Given the description of an element on the screen output the (x, y) to click on. 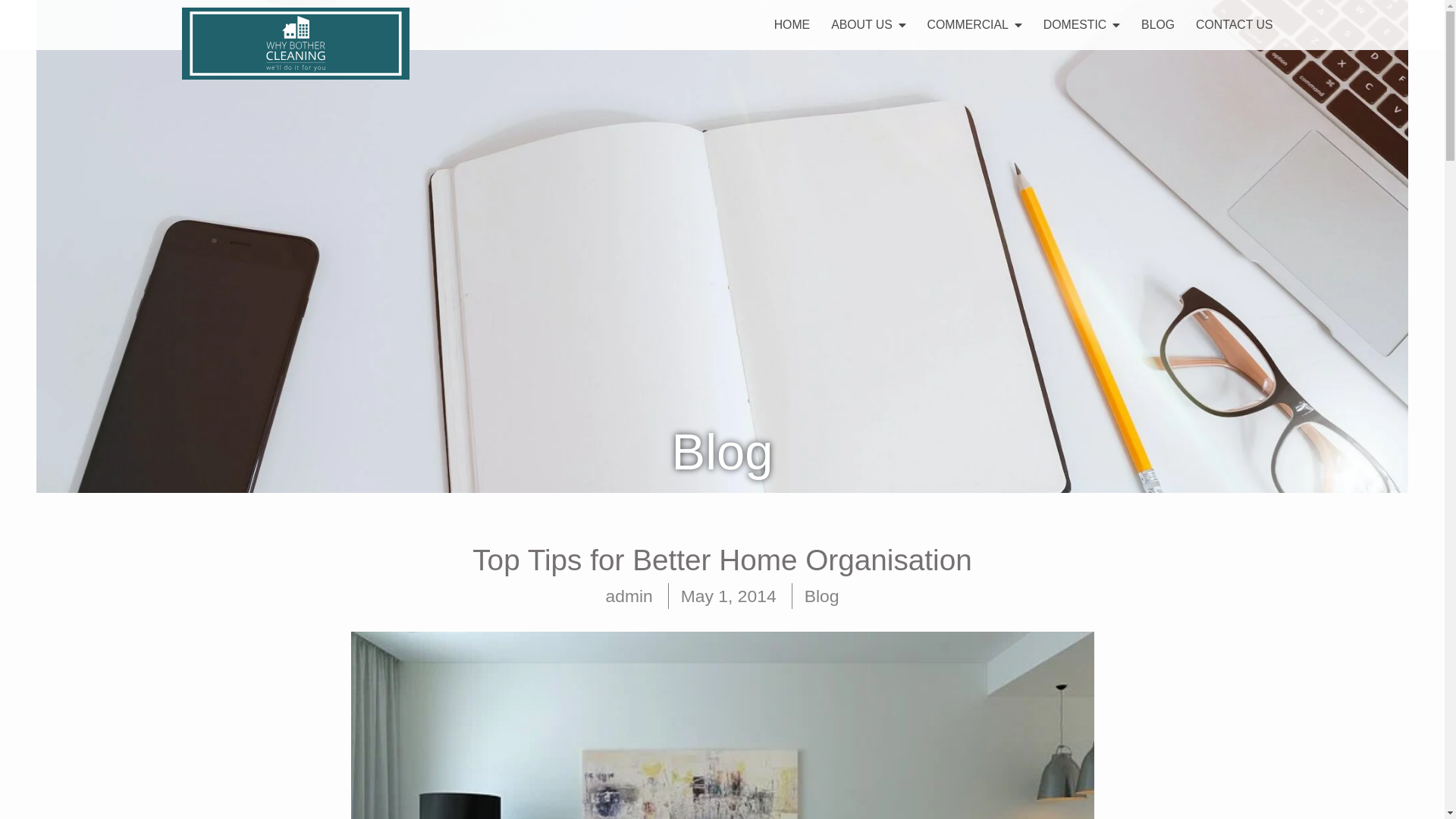
DOMESTIC (1081, 10)
Blog (822, 595)
CONTACT US (1233, 14)
May 1, 2014 (728, 594)
admin (628, 594)
COMMERCIAL (974, 7)
BLOG (1158, 13)
